Given the description of an element on the screen output the (x, y) to click on. 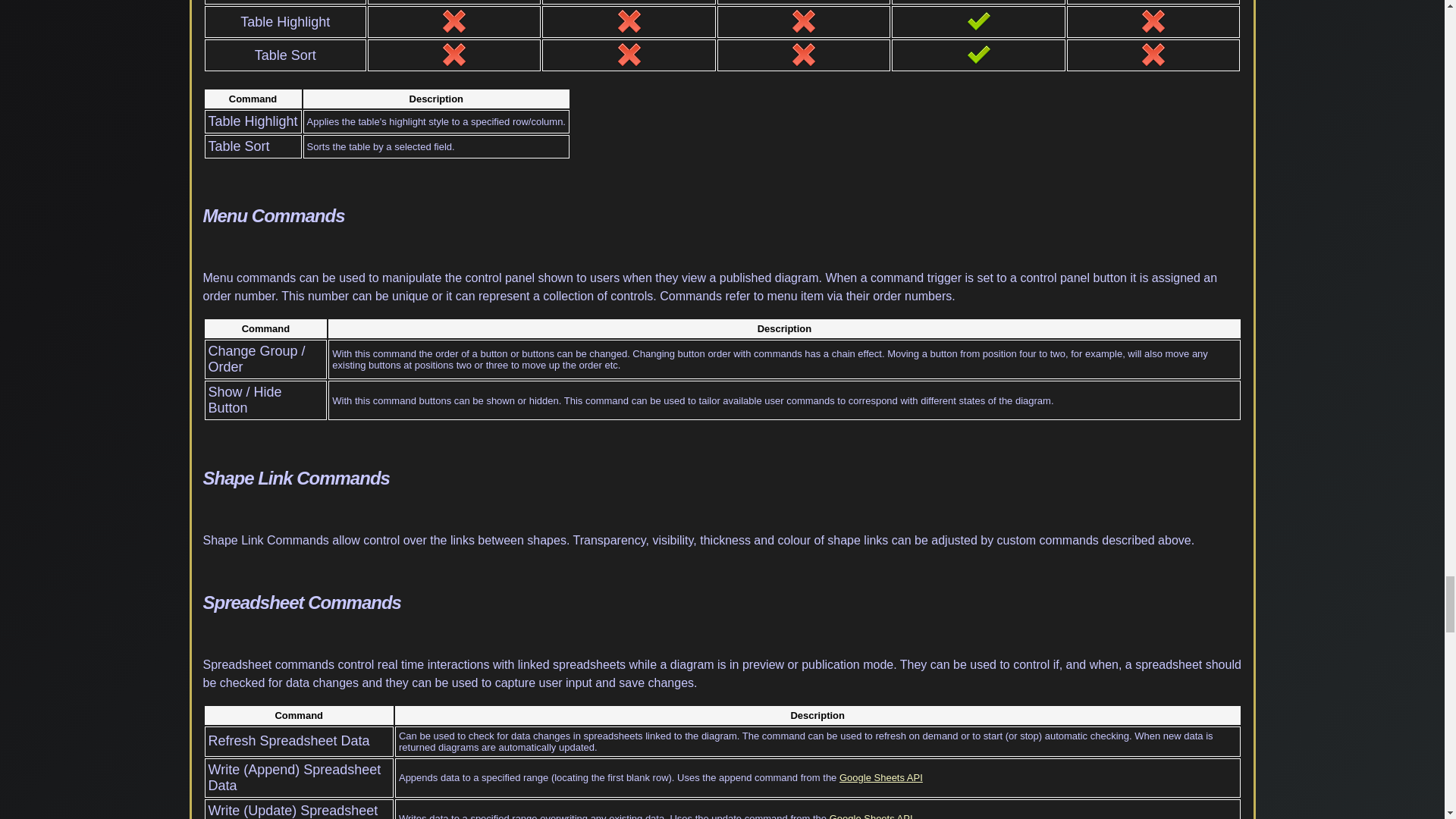
Google Sheets API (870, 816)
Google Sheets API (881, 777)
